Given the description of an element on the screen output the (x, y) to click on. 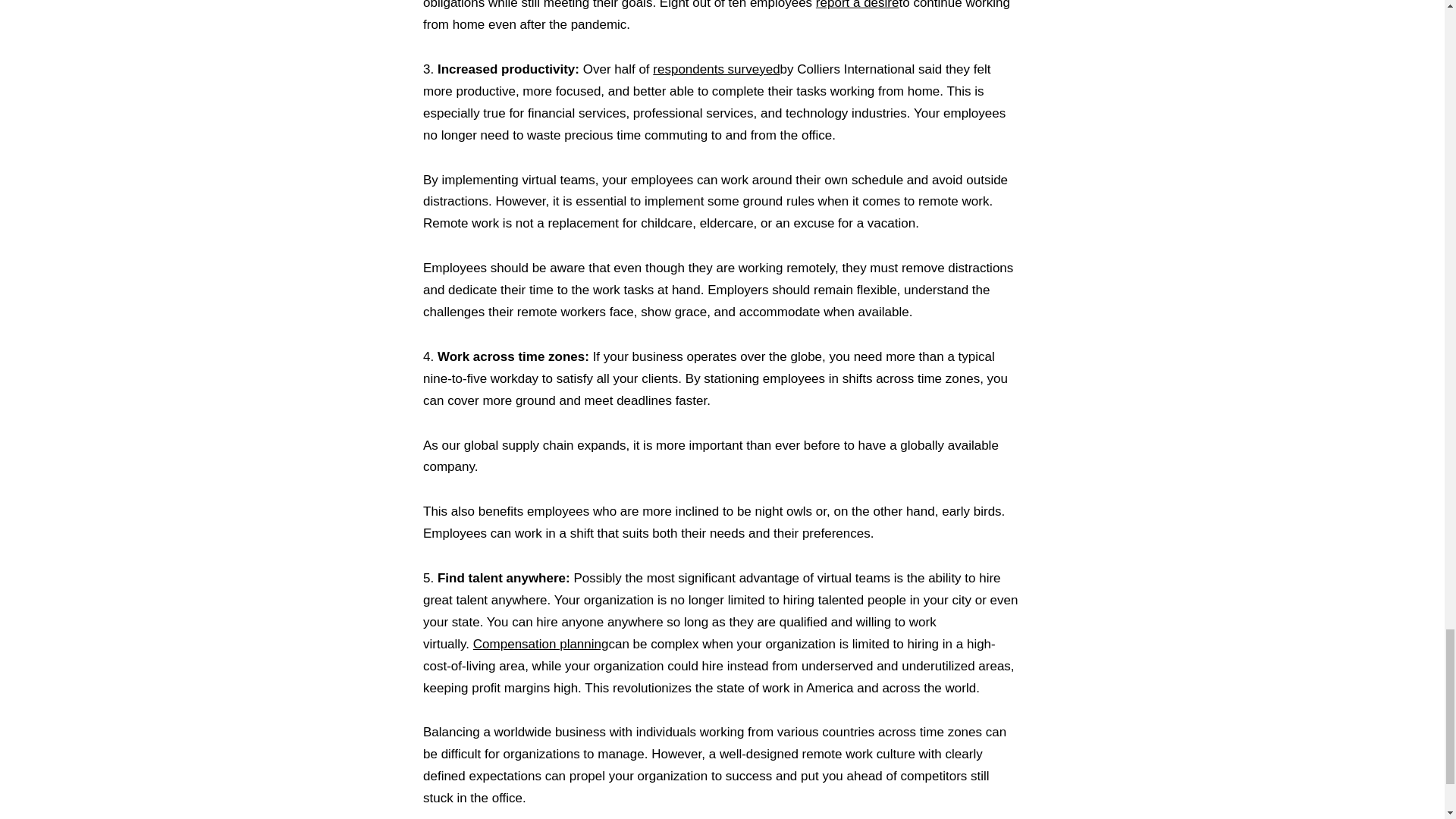
Compensation planning (540, 644)
respondents surveyed (715, 69)
report a desire (857, 4)
